Given the description of an element on the screen output the (x, y) to click on. 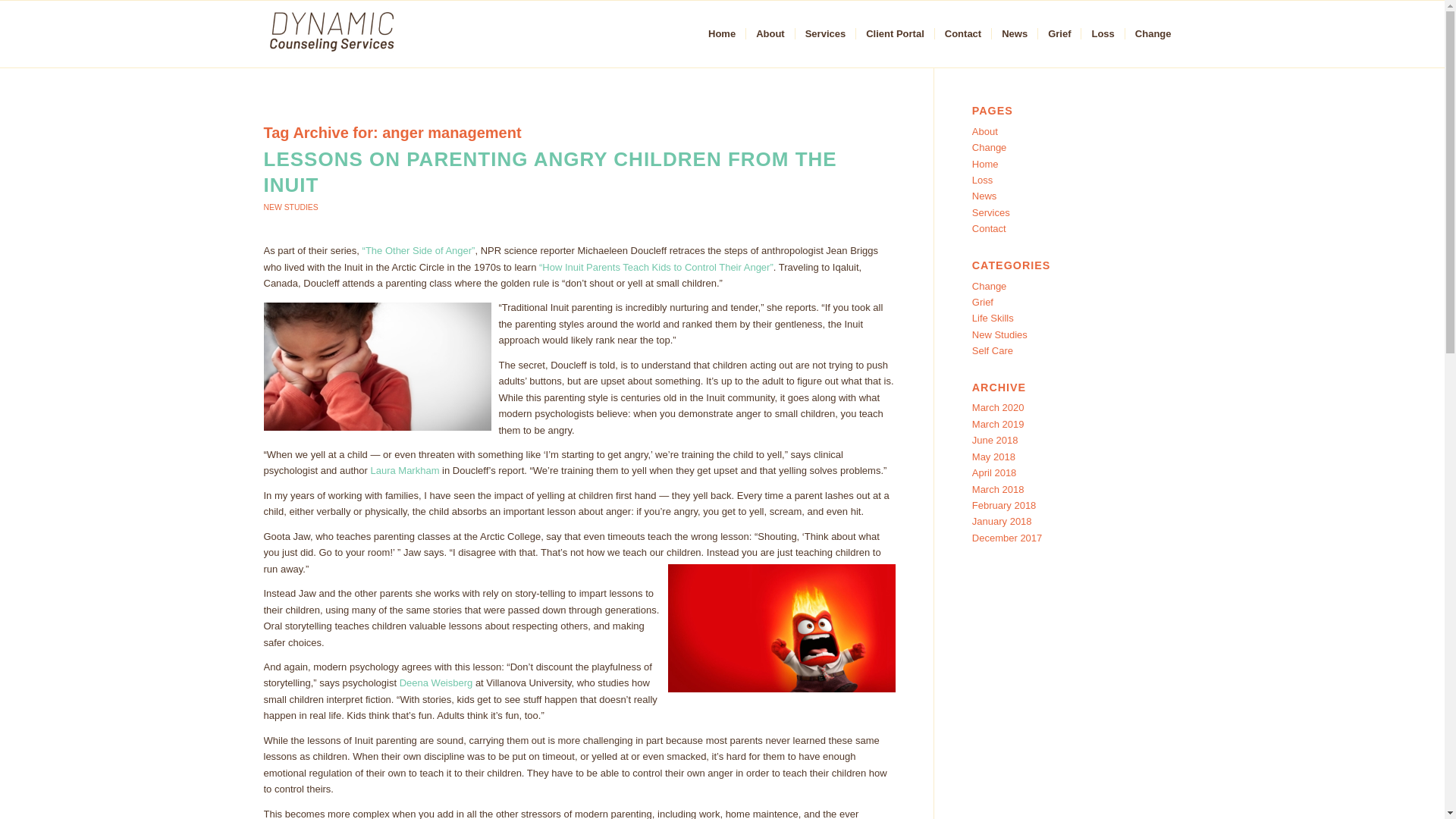
Change (989, 147)
Change (989, 285)
NEW STUDIES (290, 207)
Grief (982, 301)
Services (825, 33)
June 2018 (994, 439)
Services (991, 212)
March 2019 (998, 423)
Loss (982, 179)
Self Care (992, 350)
About (984, 131)
February 2018 (1004, 505)
May 2018 (993, 456)
Laura Markham (404, 470)
LESSONS ON PARENTING ANGRY CHILDREN FROM THE INUIT (550, 172)
